Given the description of an element on the screen output the (x, y) to click on. 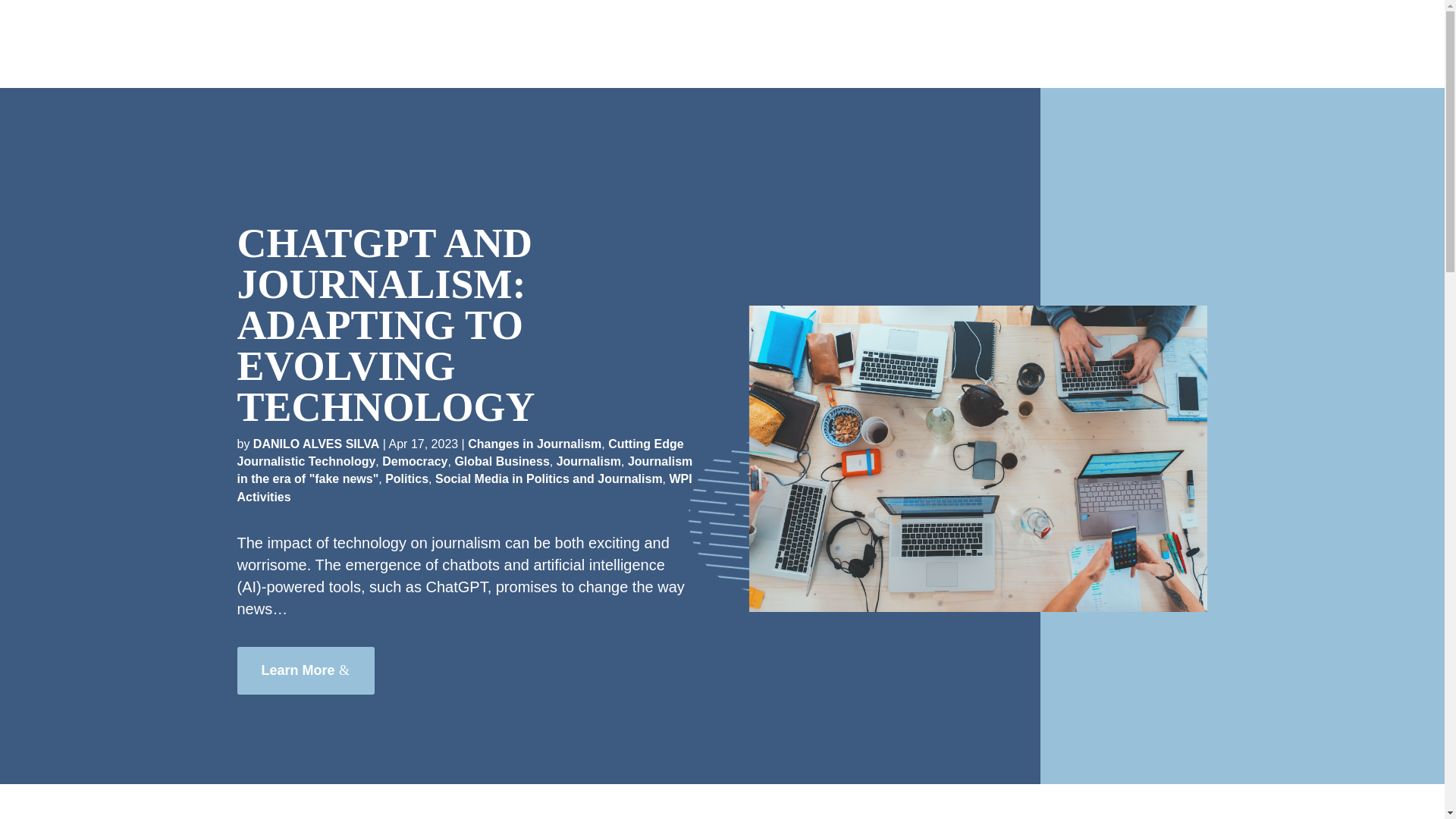
DANILO ALVES SILVA (316, 443)
SUPPORT WPI (1159, 43)
Democracy (413, 461)
Journalism (588, 461)
Journalism in the era of "fake news" (464, 470)
Politics (406, 478)
ABOUT US (879, 43)
Global Business (501, 461)
Cutting Edge Journalistic Technology (458, 452)
